Given the description of an element on the screen output the (x, y) to click on. 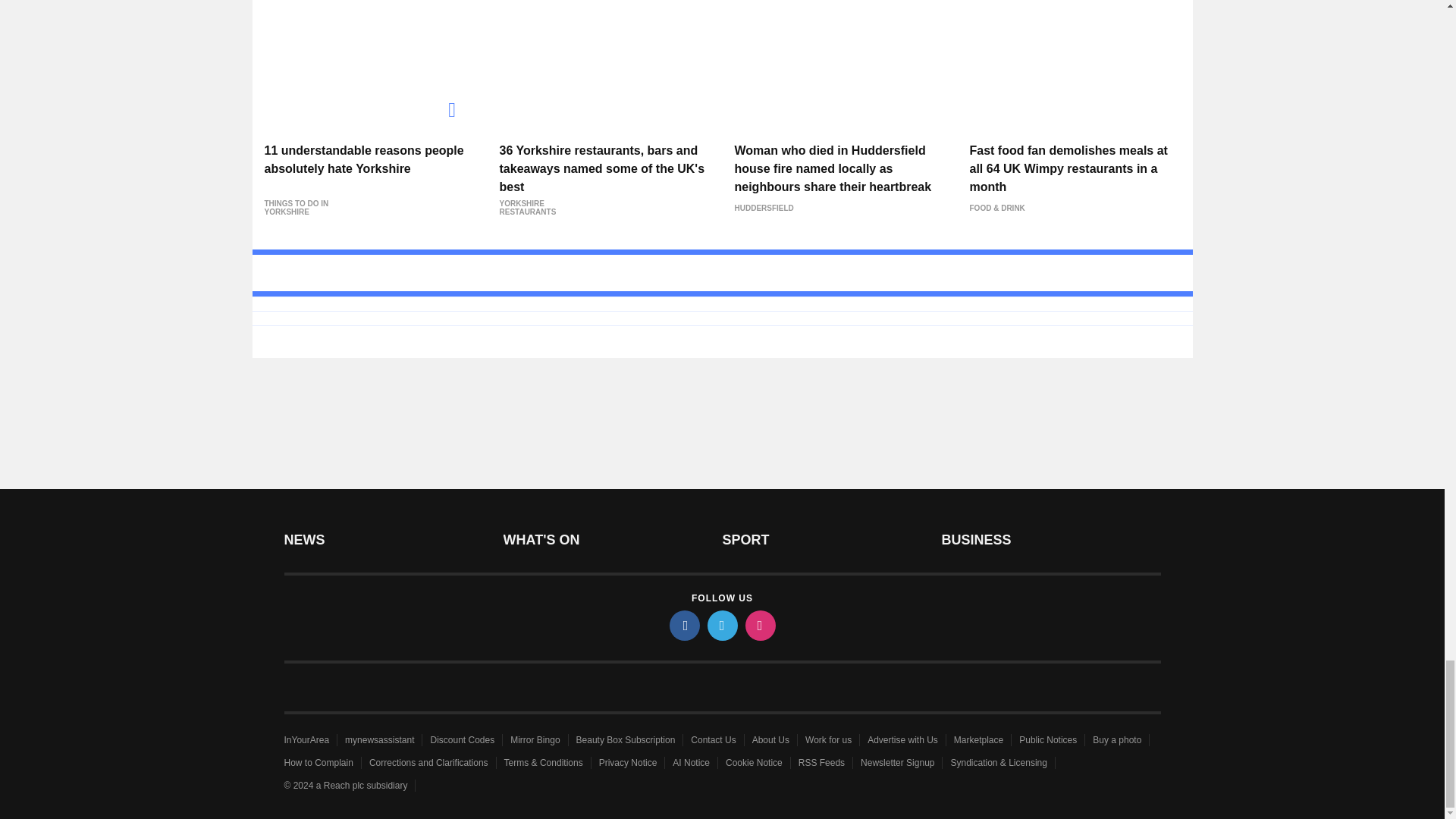
instagram (759, 625)
twitter (721, 625)
facebook (683, 625)
